Given the description of an element on the screen output the (x, y) to click on. 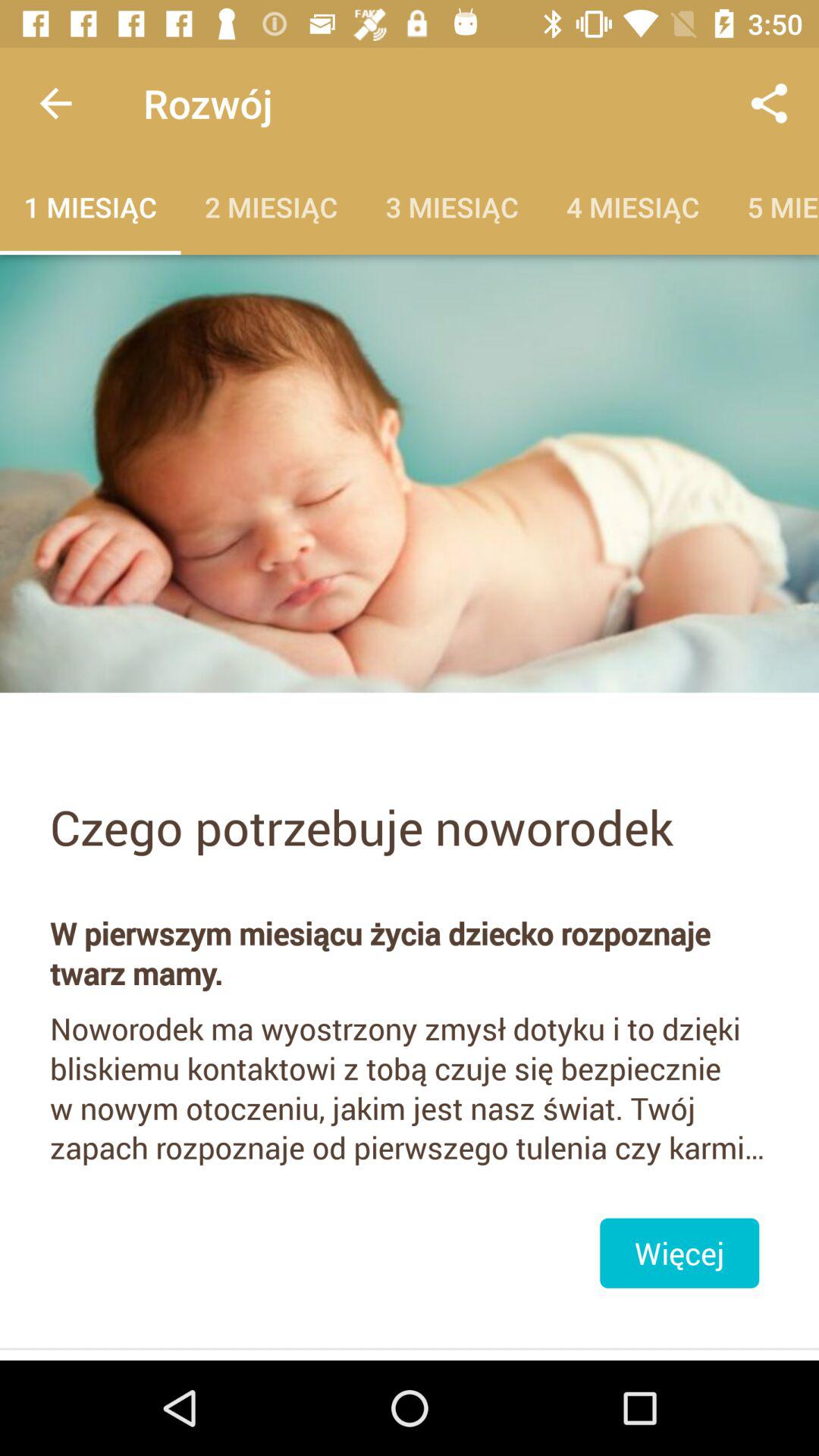
swipe to the czego potrzebuje noworodek icon (409, 826)
